Given the description of an element on the screen output the (x, y) to click on. 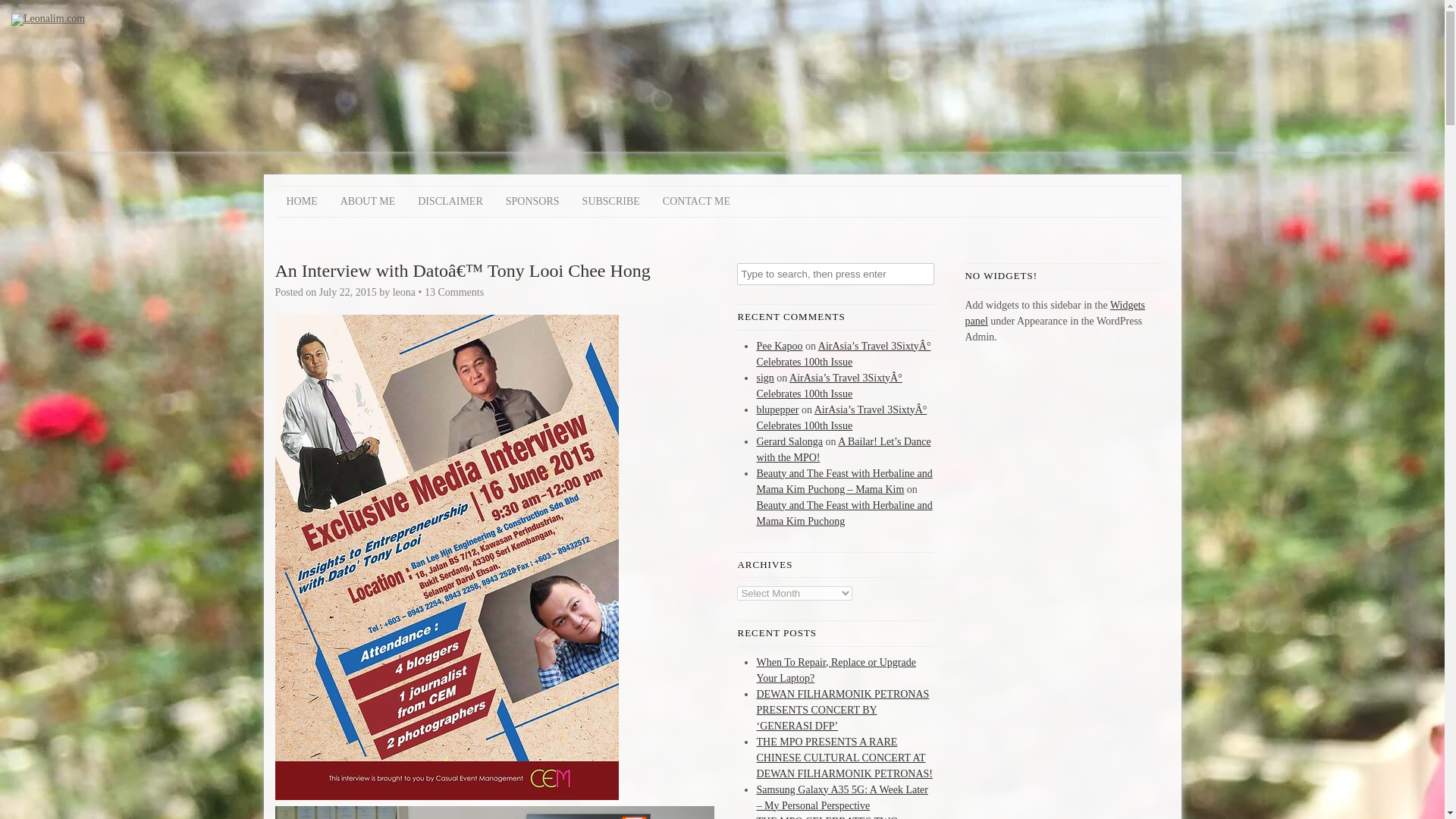
13 Comments (454, 292)
ABOUT ME (367, 201)
CONTACT ME (695, 201)
SPONSORS (532, 201)
HOME (302, 201)
Type to search, then press enter (835, 273)
leona (403, 292)
DISCLAIMER (450, 201)
media interview (446, 796)
SUBSCRIBE (610, 201)
